Given the description of an element on the screen output the (x, y) to click on. 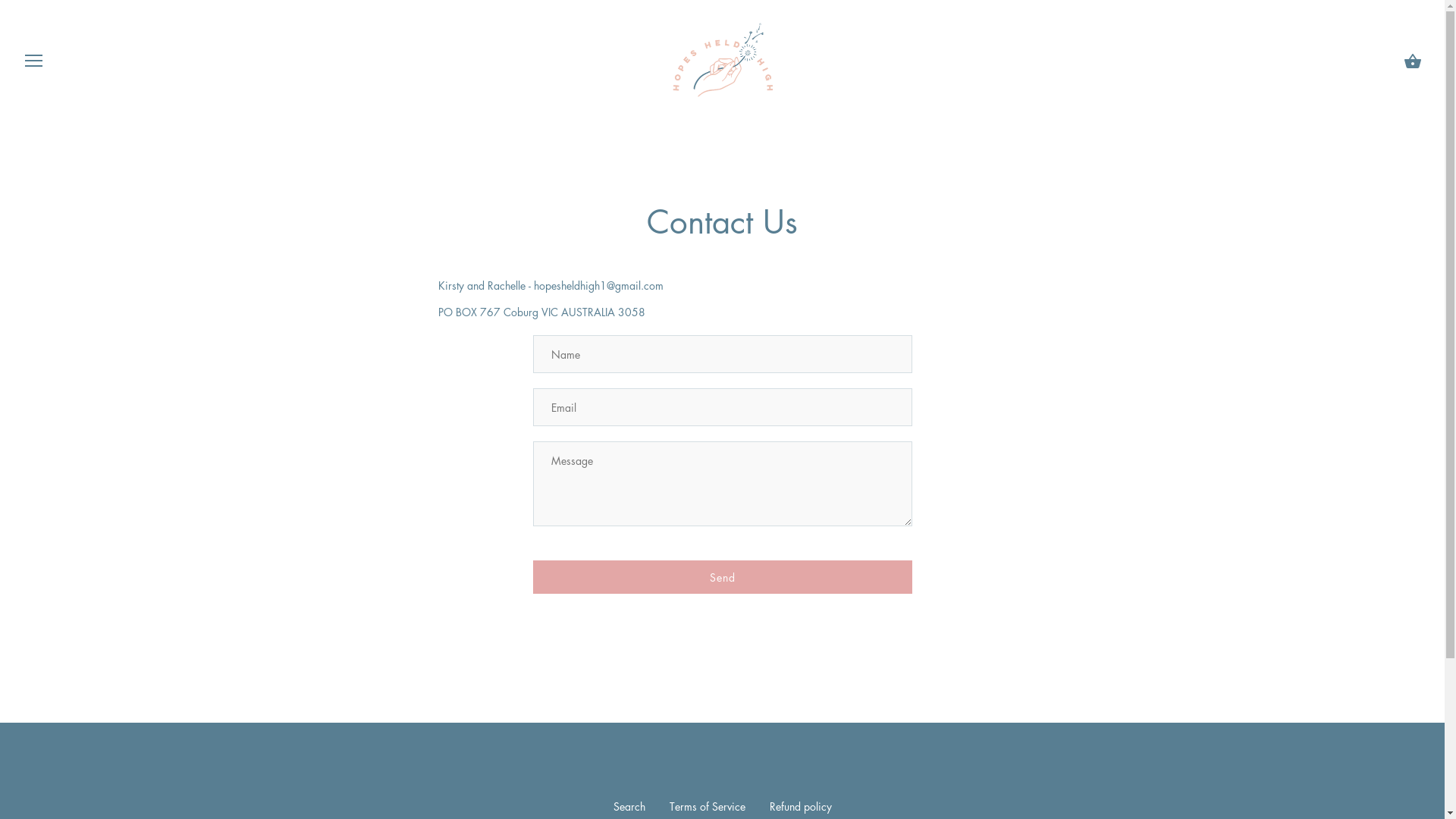
Search Element type: text (628, 805)
Cart Element type: text (1412, 61)
Refund policy Element type: text (799, 805)
Send Element type: text (721, 576)
Terms of Service Element type: text (706, 805)
